Given the description of an element on the screen output the (x, y) to click on. 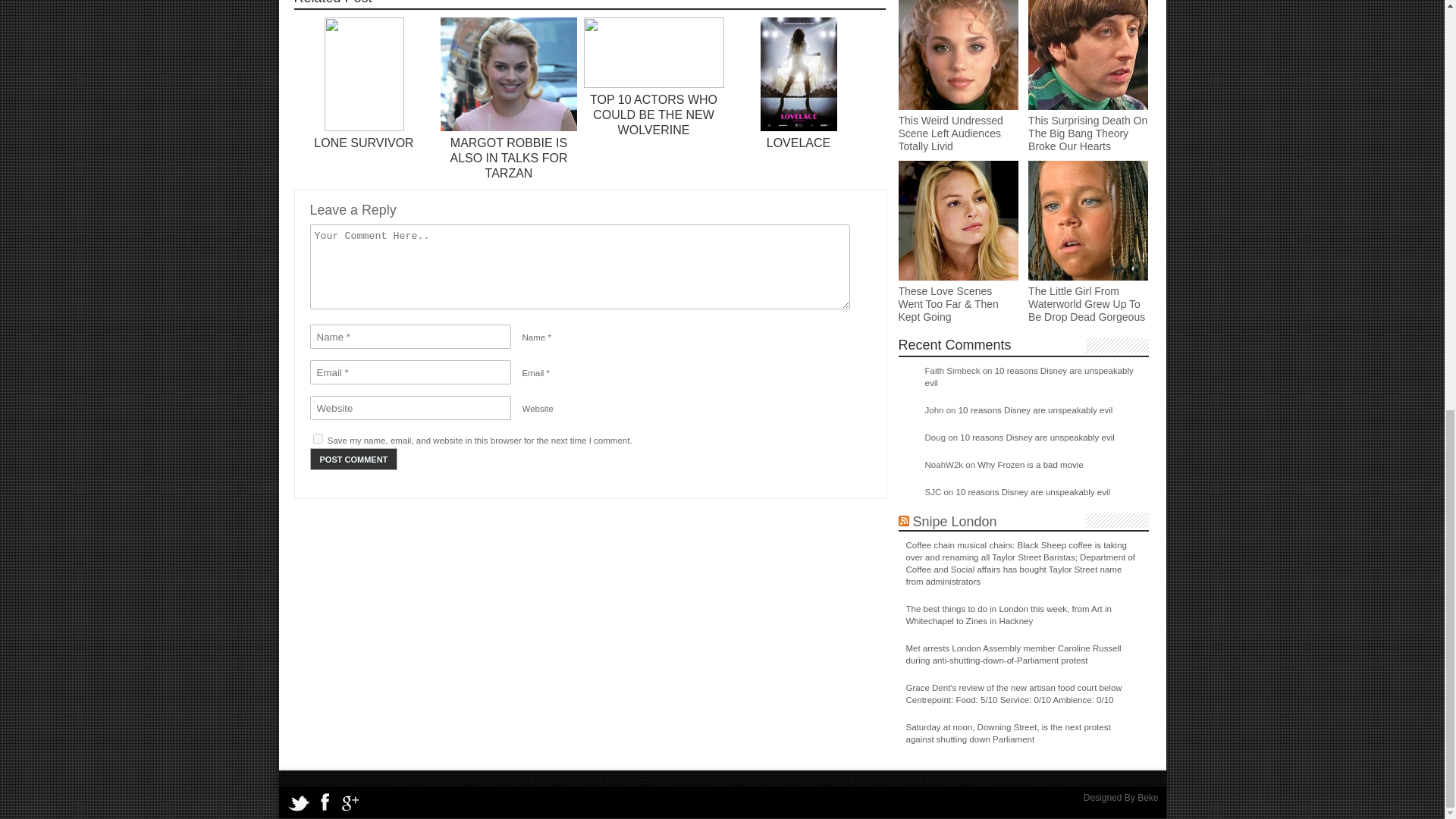
Lovelace (797, 127)
Top 10 actors who could be the new Wolverine (653, 115)
Top 10 actors who could be the new Wolverine (653, 84)
Lone Survivor (363, 142)
Lovelace (798, 142)
Post Comment (352, 458)
yes (317, 438)
Margot Robbie is ALSO in talks for Tarzan (508, 127)
Margot Robbie is ALSO in talks for Tarzan (508, 158)
Lone Survivor (364, 127)
